Given the description of an element on the screen output the (x, y) to click on. 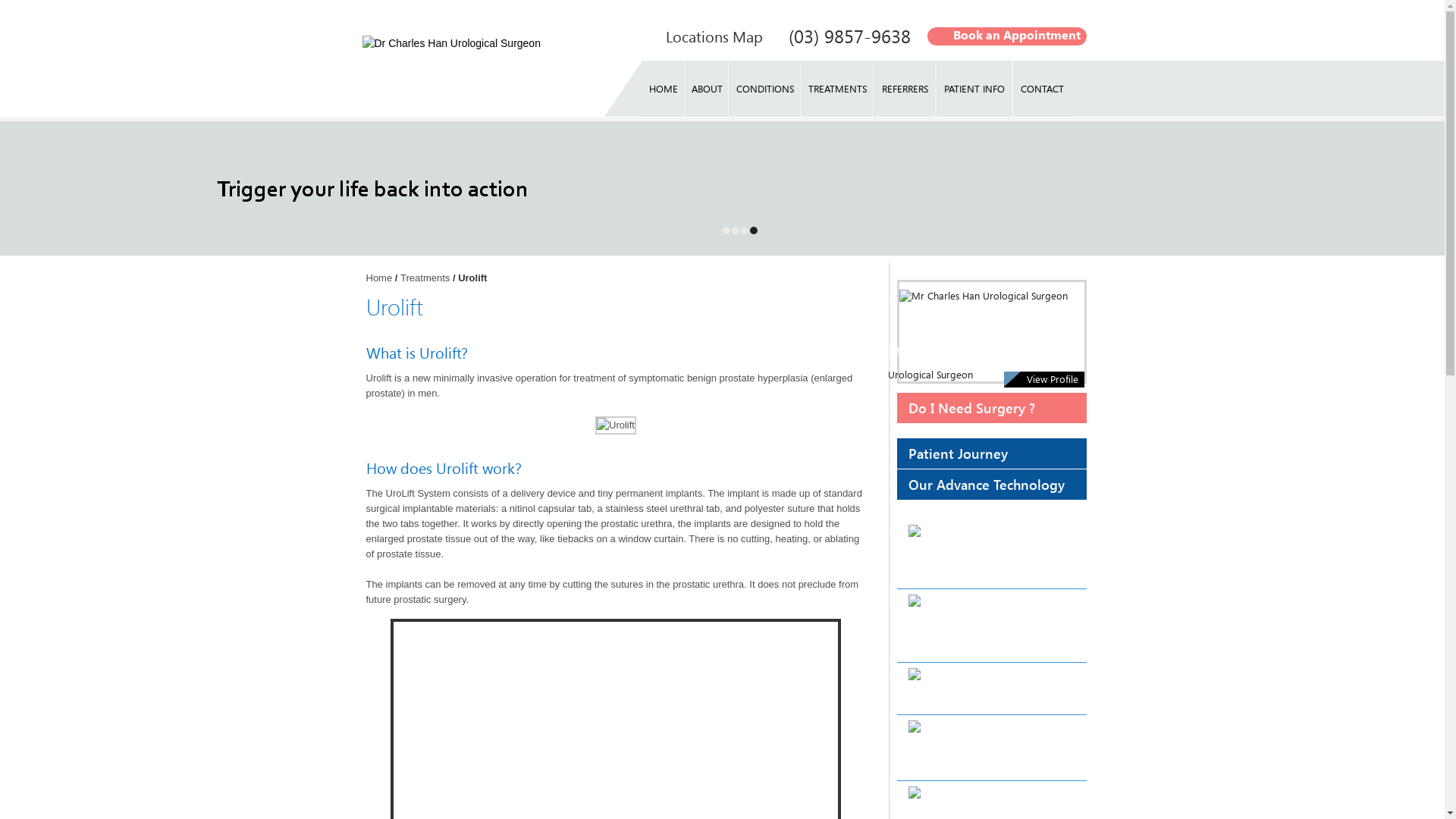
KIDNEY STONES Element type: text (990, 688)
PATIENT INFO Element type: text (975, 88)
ABOUT Element type: text (707, 88)
HOME Element type: text (663, 88)
CONTACT Element type: text (1041, 88)
  Element type: text (734, 233)
Our Advance Technology Element type: text (990, 484)
Treatments Element type: text (424, 277)
  Element type: text (743, 233)
INCONTINENCE Element type: text (990, 625)
Book an Appointment Element type: text (1005, 34)
PROSTATE CANCER Element type: text (990, 747)
Locations Map Element type: text (713, 36)
HAEMATURIA / BLOOD IN THE URINE Element type: text (990, 551)
(03) 9857-9638 Element type: text (849, 35)
TREATMENTS Element type: text (837, 88)
REFERRERS Element type: text (904, 88)
Patient Journey Element type: text (990, 453)
Home Element type: text (378, 277)
  Element type: text (752, 230)
Do I Need Surgery ? Element type: text (990, 407)
View Profile Element type: text (1044, 379)
Mr Charles Han Element type: text (942, 351)
  Element type: text (725, 233)
CONDITIONS Element type: text (764, 88)
